Given the description of an element on the screen output the (x, y) to click on. 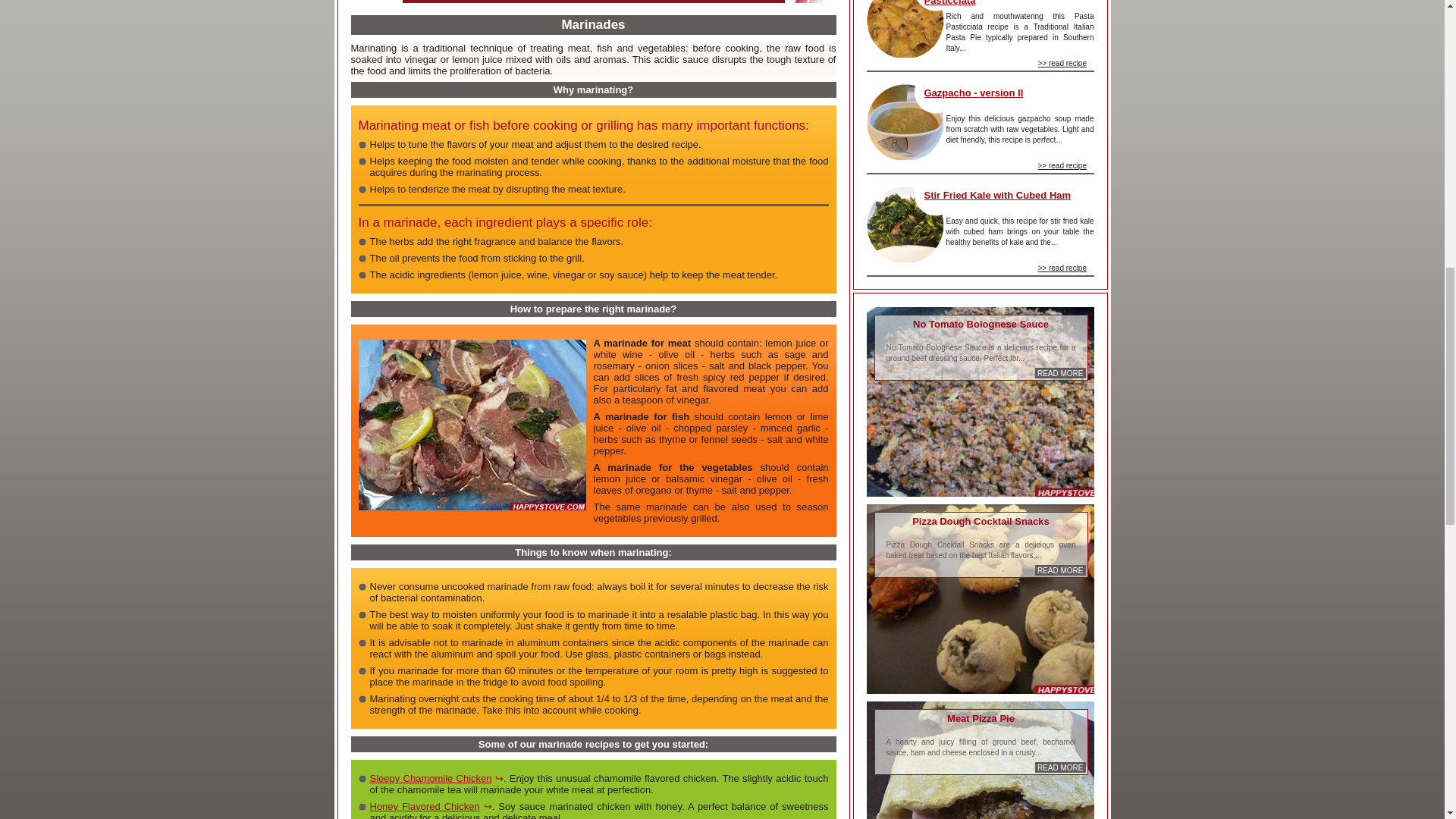
Go to recipe: Sleepy Chamomile Chicken (436, 778)
 Marinades (471, 424)
Previous (814, 1)
Italian Traditional Pasta Pie - Pasta Pasticciata (1004, 2)
Go to recipe: Honey Flavored Chicken (430, 806)
